Given the description of an element on the screen output the (x, y) to click on. 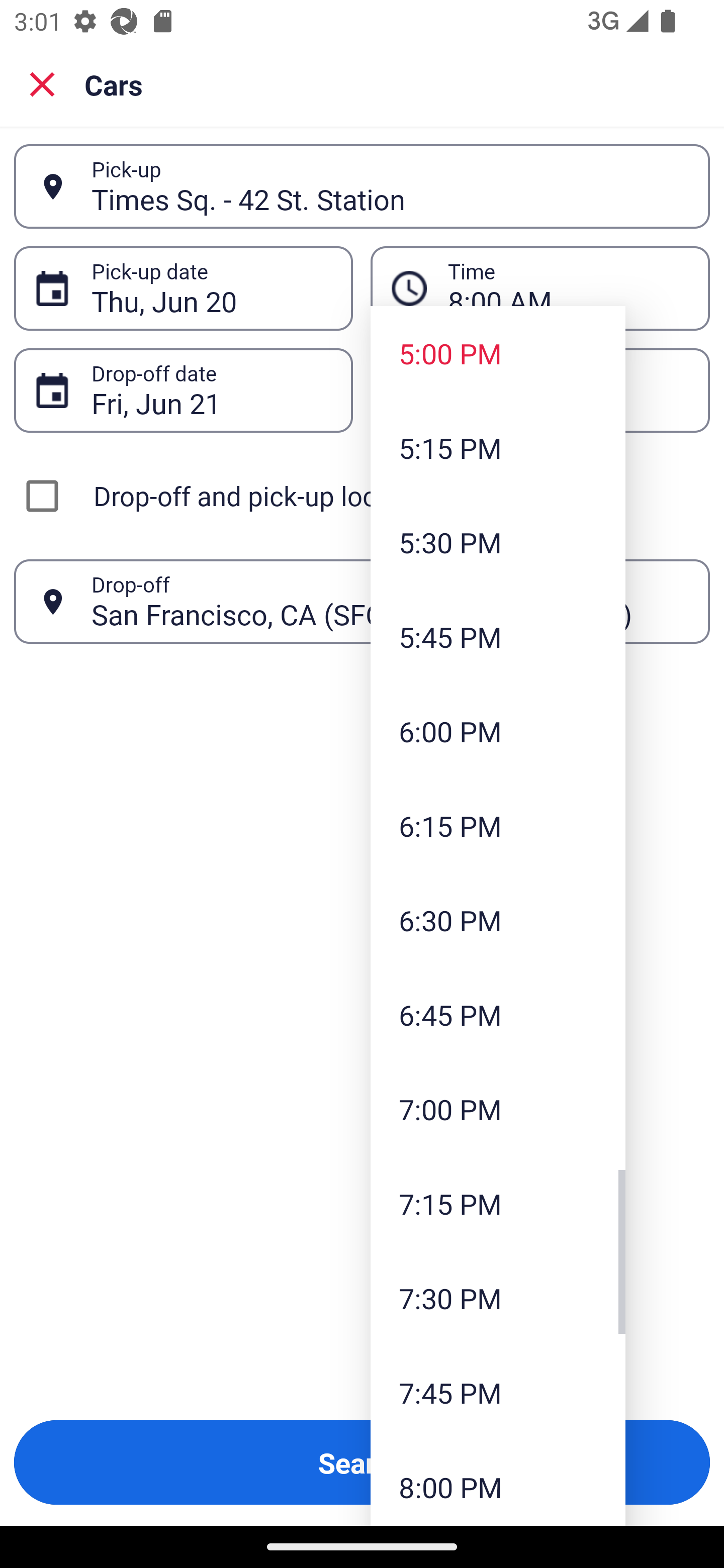
5:00 PM (497, 352)
5:15 PM (497, 447)
5:30 PM (497, 542)
5:45 PM (497, 636)
6:00 PM (497, 730)
6:15 PM (497, 825)
6:30 PM (497, 920)
6:45 PM (497, 1014)
7:00 PM (497, 1109)
7:15 PM (497, 1204)
7:30 PM (497, 1298)
7:45 PM (497, 1392)
8:00 PM (497, 1482)
